Given the description of an element on the screen output the (x, y) to click on. 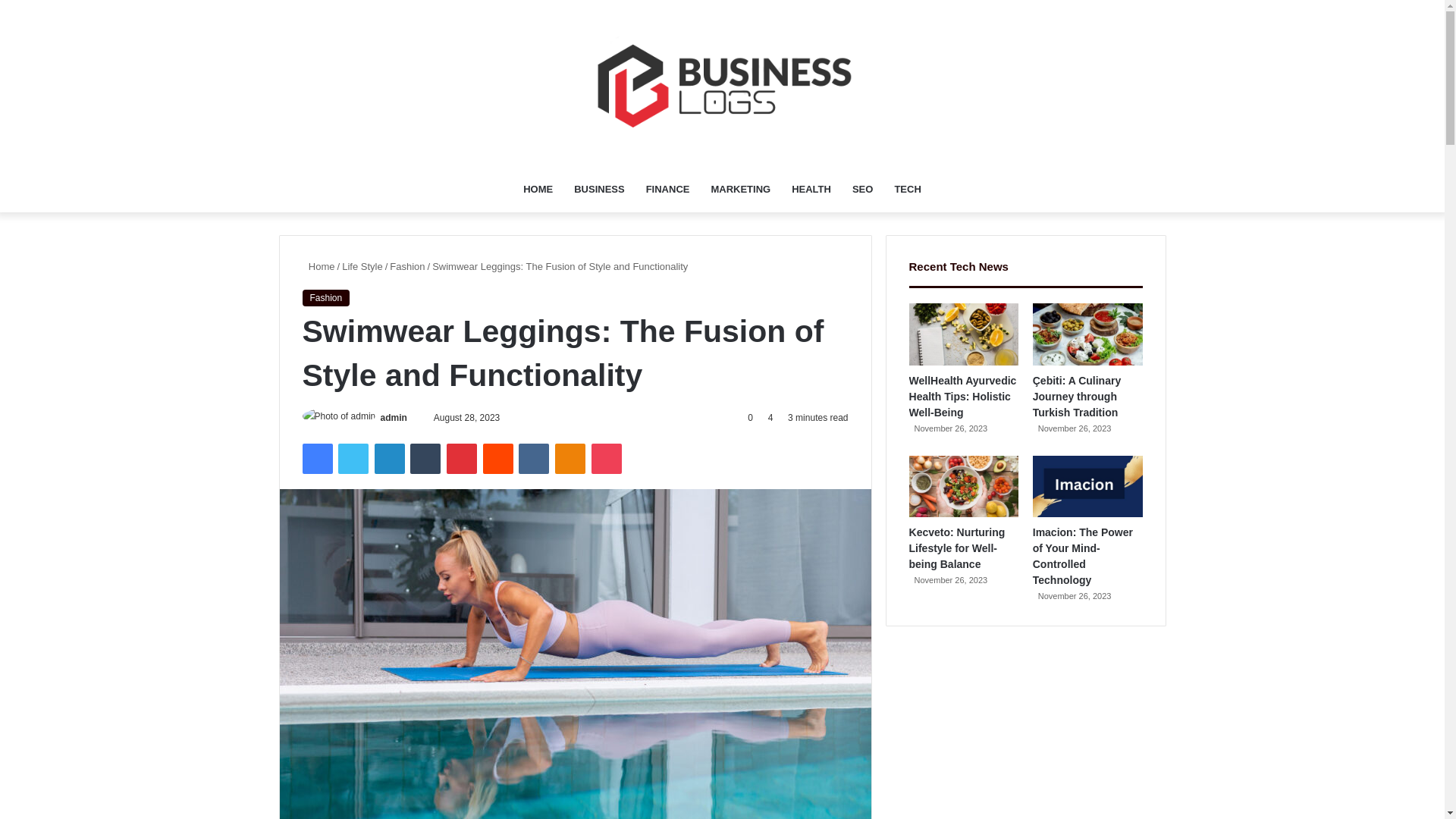
HEALTH (810, 189)
Facebook (316, 458)
Tumblr (425, 458)
Home (317, 266)
LinkedIn (389, 458)
VKontakte (533, 458)
Twitter (352, 458)
Fashion (407, 266)
LinkedIn (389, 458)
Odnoklassniki (569, 458)
TECH (907, 189)
admin (393, 417)
Twitter (352, 458)
admin (393, 417)
Business Logs (722, 83)
